Given the description of an element on the screen output the (x, y) to click on. 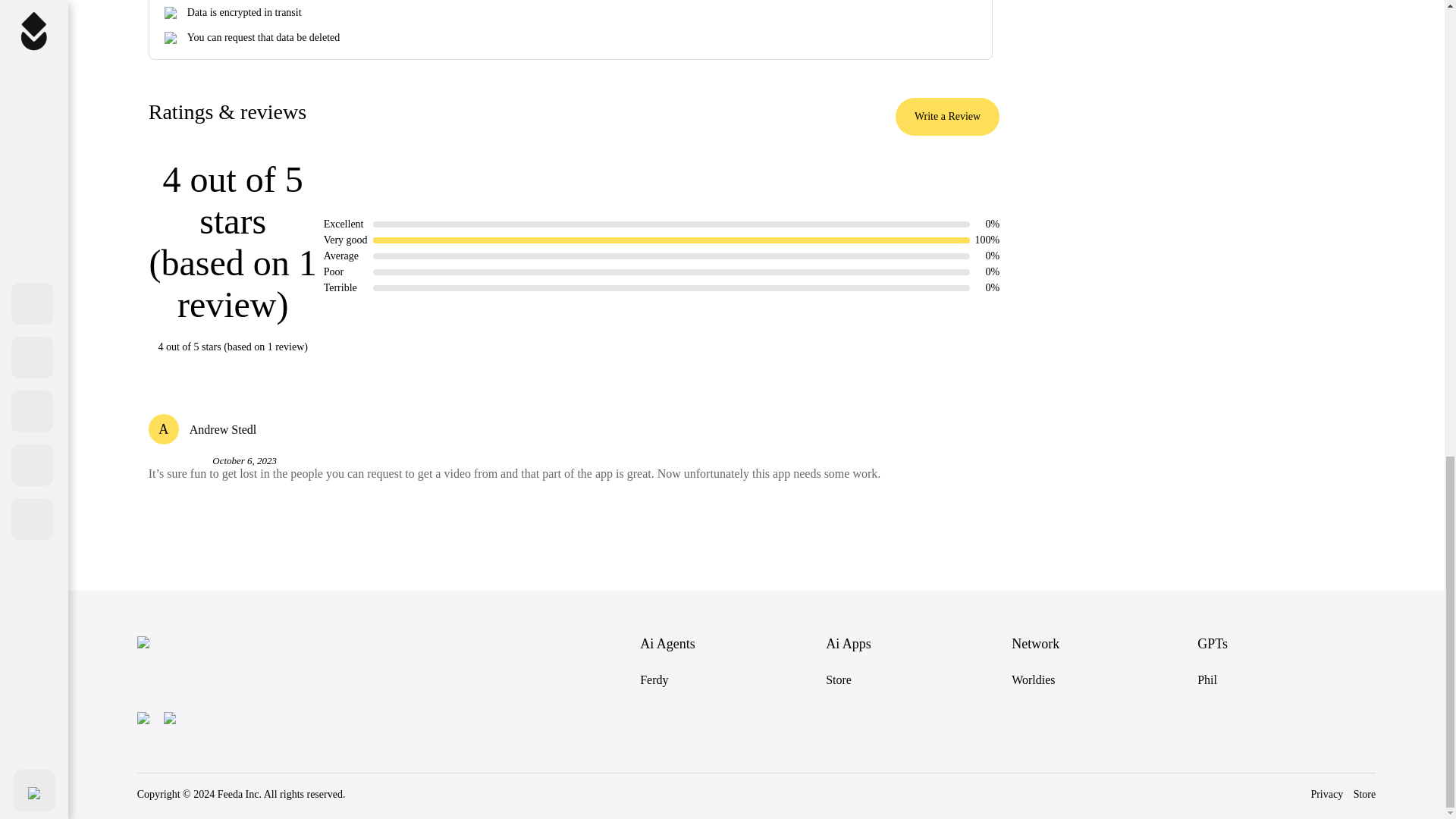
Phil (1206, 679)
Write a Review (946, 116)
Store (838, 679)
Worldies (1032, 679)
Ferdy (654, 679)
